Given the description of an element on the screen output the (x, y) to click on. 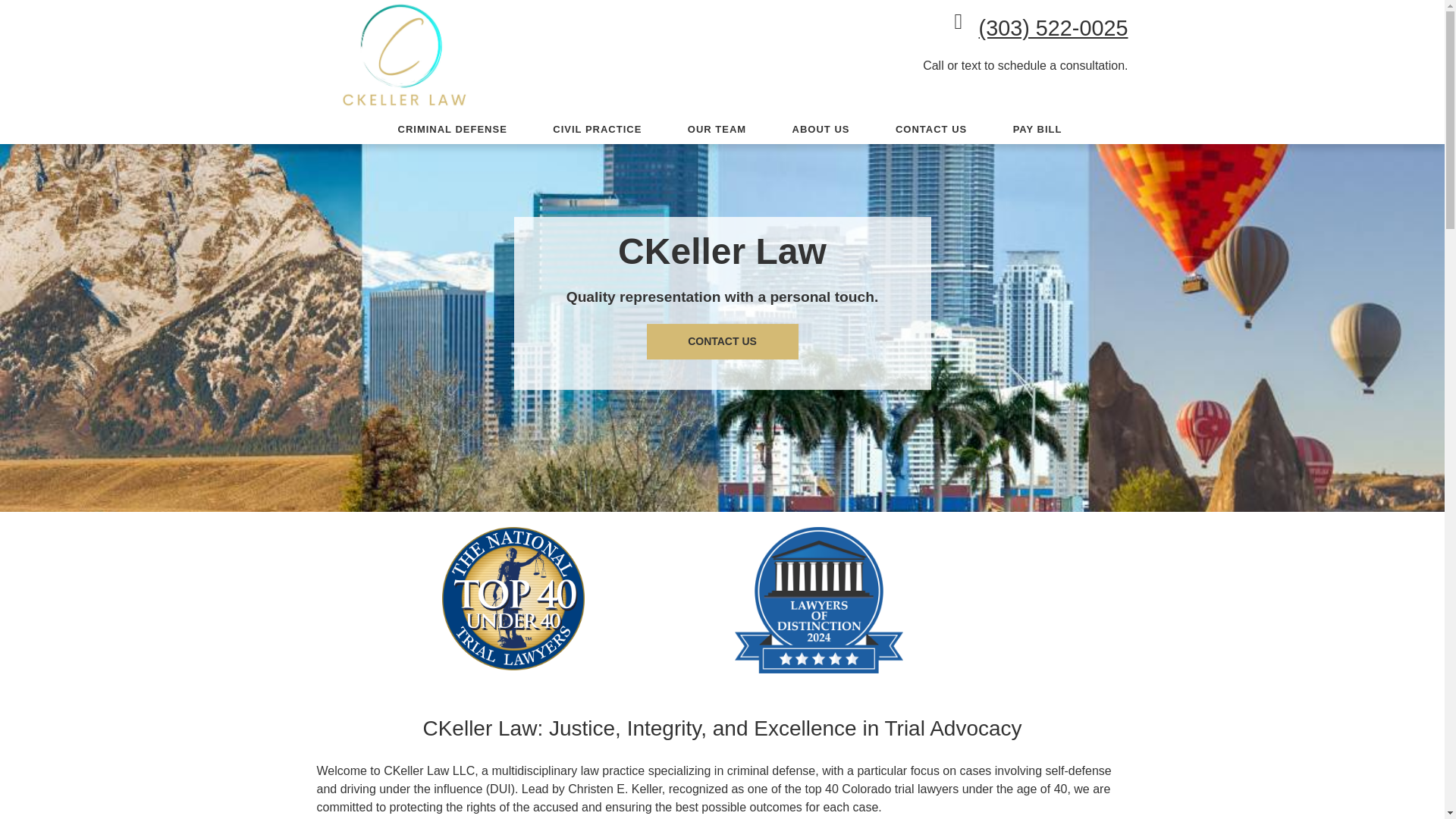
PAY BILL (1038, 129)
CONTACT US (721, 341)
CIVIL PRACTICE (596, 129)
CRIMINAL DEFENSE (451, 129)
CONTACT US (931, 129)
OUR TEAM (716, 129)
ABOUT US (820, 129)
